Given the description of an element on the screen output the (x, y) to click on. 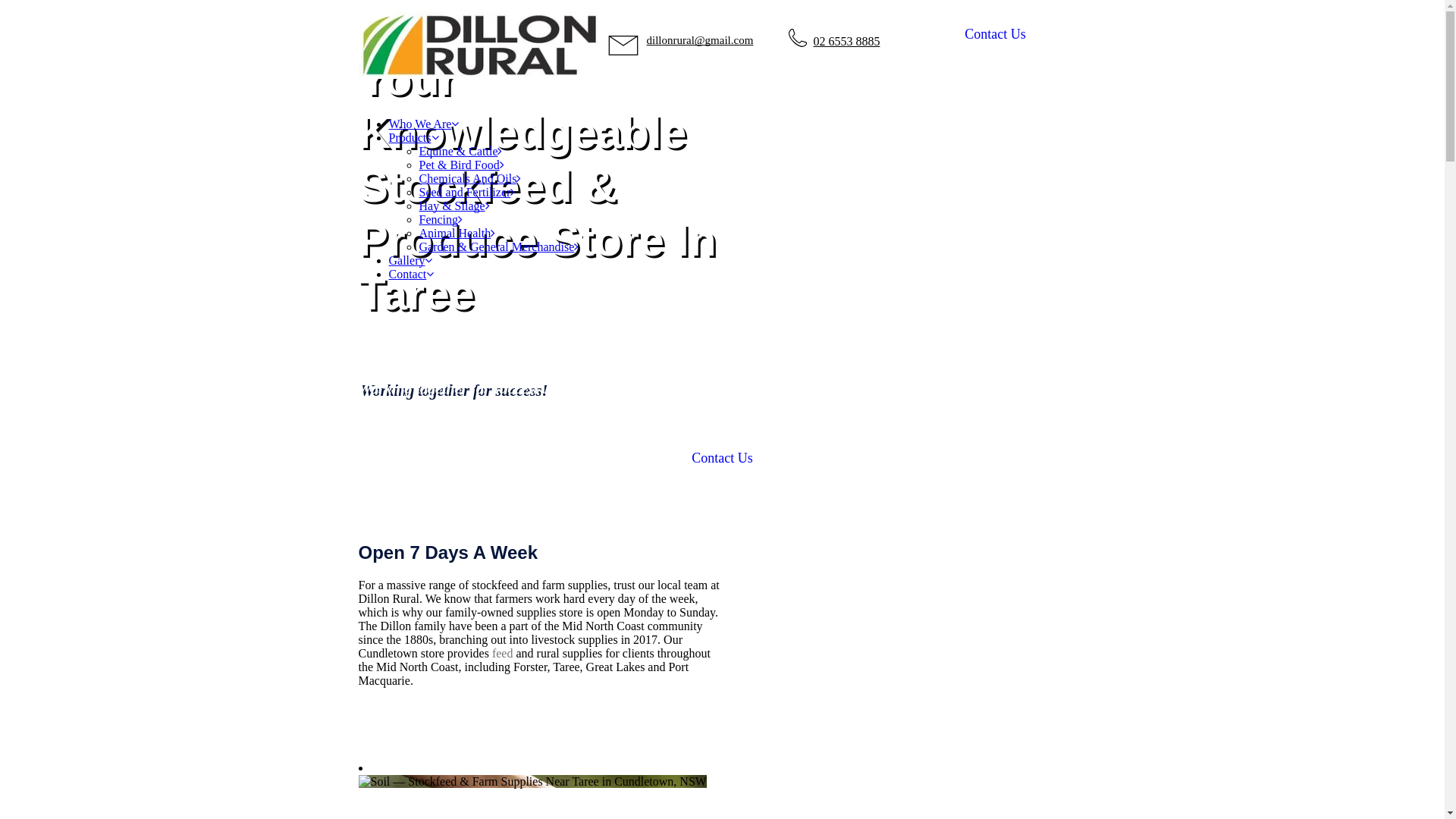
Equine & Cattle Element type: text (460, 150)
Chemicals And Oils Element type: text (469, 178)
Contact Us Element type: text (994, 34)
Animal Health Element type: text (456, 232)
dillonrural@gmail.com Element type: text (699, 40)
Hay & Silage Element type: text (453, 205)
Seed and Fertilizer Element type: text (466, 191)
Gallery Element type: text (410, 260)
Who We Are Element type: text (423, 123)
Pet & Bird Food Element type: text (460, 164)
Fencing Element type: text (440, 219)
Contact Element type: text (410, 273)
Contact Us Element type: text (721, 457)
Products Element type: text (413, 137)
02 6553 8885 Element type: text (845, 40)
Garden & General Merchandise Element type: text (498, 246)
